Given the description of an element on the screen output the (x, y) to click on. 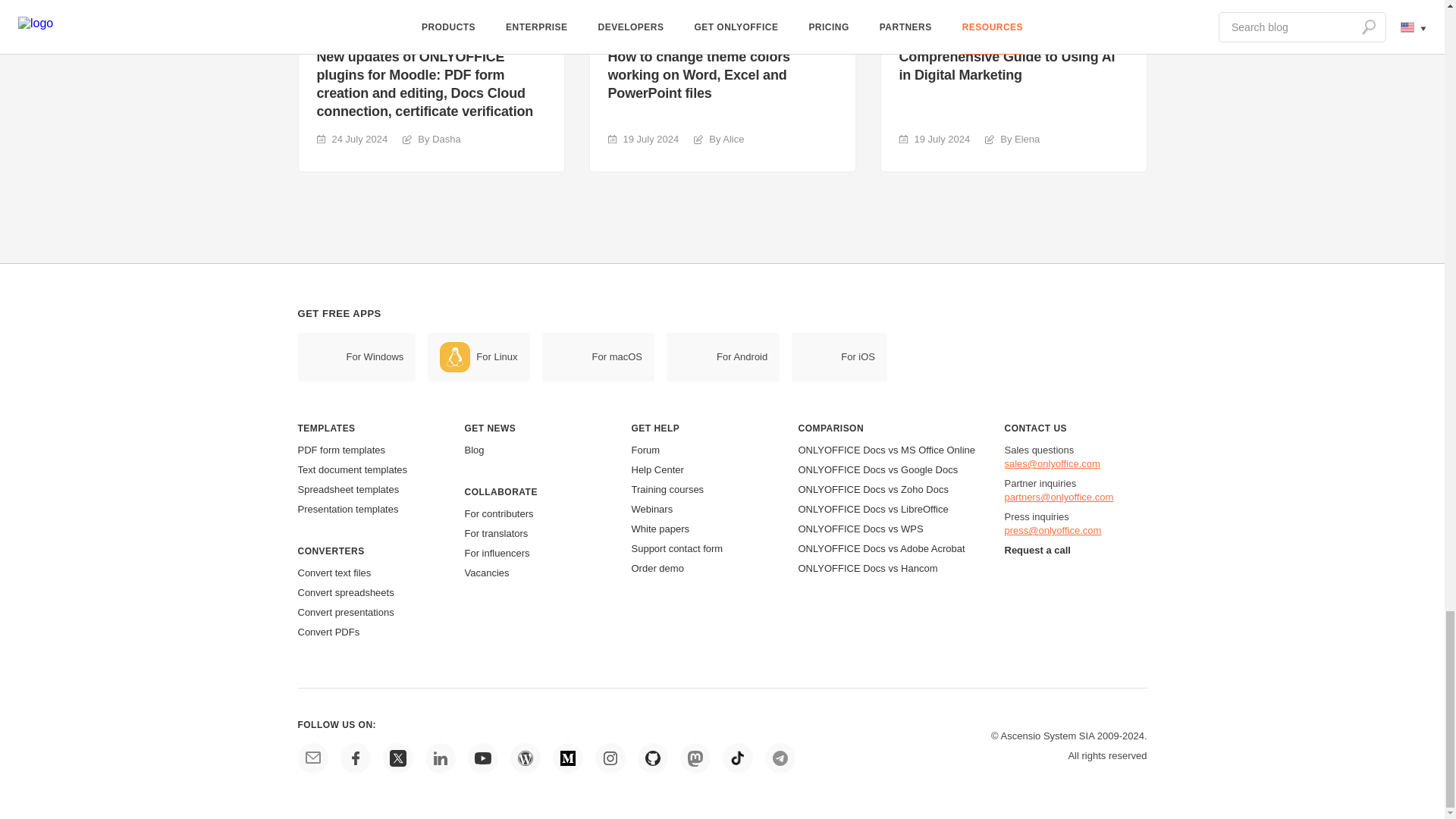
GitHub (651, 757)
OnlyOffice (312, 757)
Medium (566, 757)
LinkedIn (439, 757)
TikTok (737, 757)
Blog (524, 757)
Telegram (779, 757)
Facebook (354, 757)
YouTube (482, 757)
Twitter (396, 757)
Instagram (609, 757)
Fosstodon (694, 757)
